Given the description of an element on the screen output the (x, y) to click on. 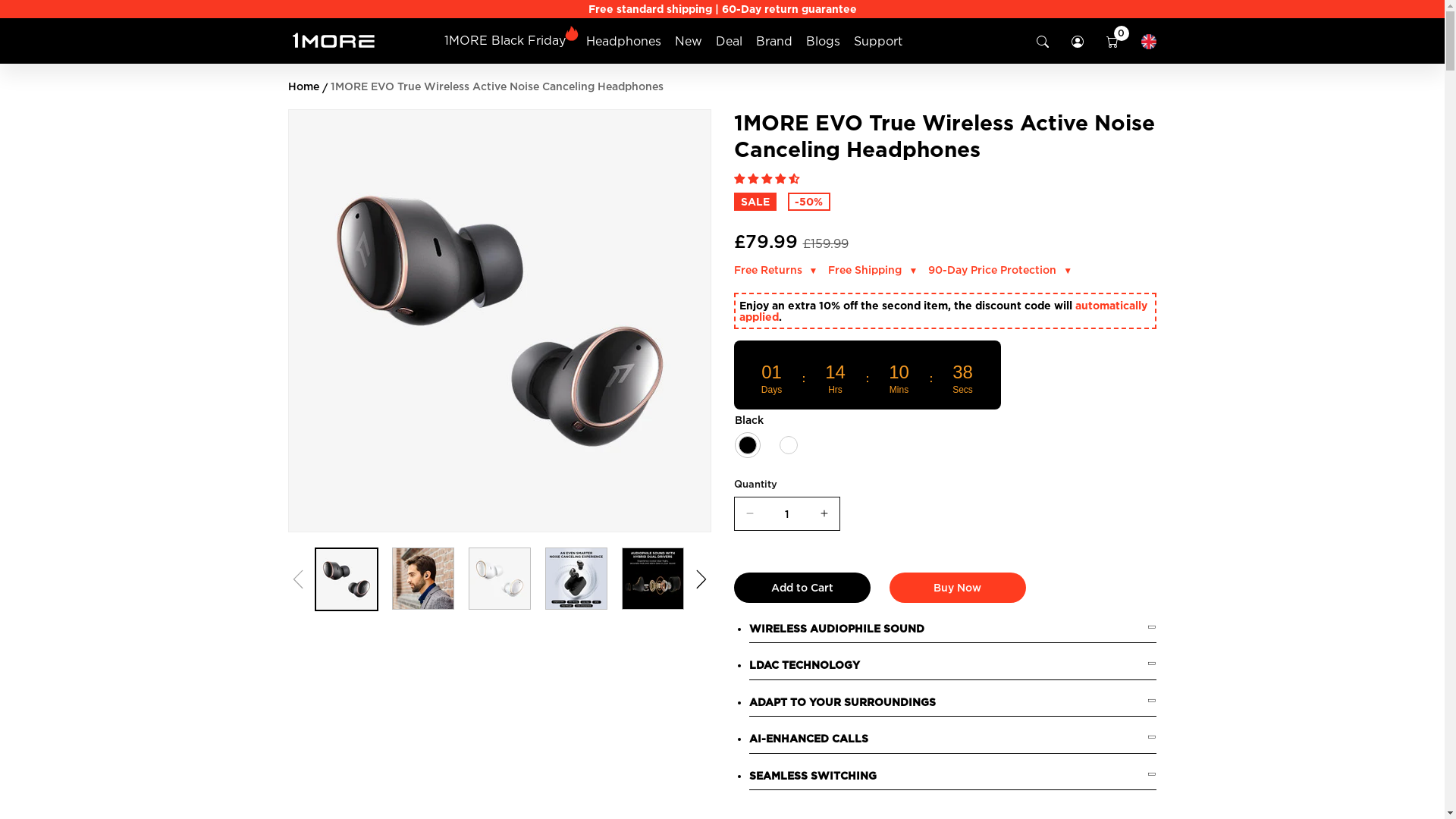
Add to Cart Element type: text (802, 587)
Blogs Element type: text (823, 40)
New Element type: text (688, 40)
1MORE Black Friday Element type: text (504, 40)
Black Element type: hover (747, 445)
Headphones Element type: text (623, 40)
Brand Element type: text (774, 40)
Support Element type: text (877, 40)
Buy Now Element type: text (956, 587)
Home Element type: text (303, 85)
Deal Element type: text (728, 40)
1MORE EVO True Wireless Active Noise Canceling Headphones Element type: text (496, 85)
0 Element type: text (1112, 41)
White Element type: hover (788, 445)
